Given the description of an element on the screen output the (x, y) to click on. 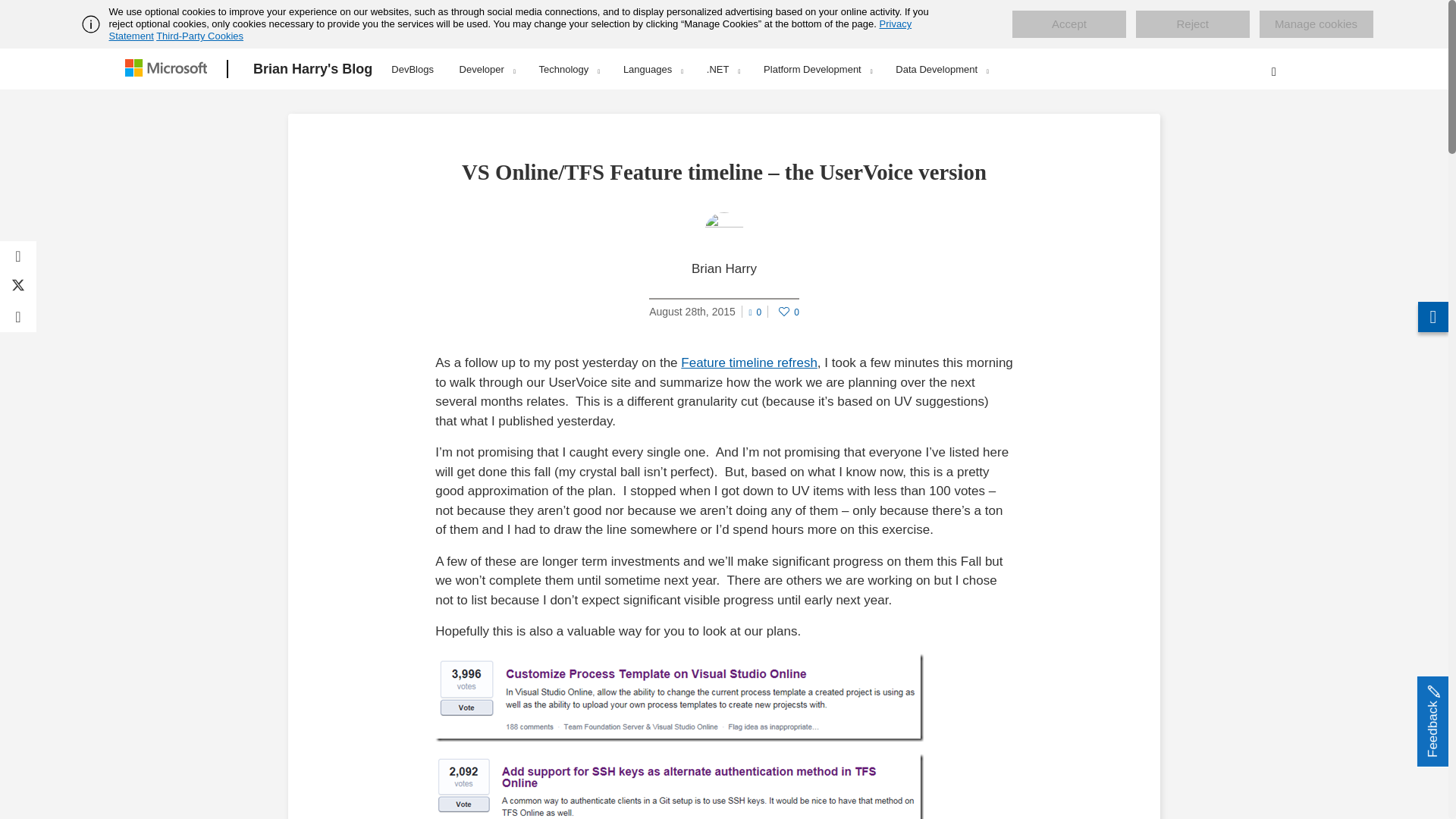
Technology (568, 69)
Share on Twitter (18, 286)
Languages (652, 69)
Share on LinkedIn (18, 317)
Manage cookies (1316, 23)
Brian Harry's Blog (313, 69)
Third-Party Cookies (199, 35)
Developer (486, 69)
Reject (1192, 23)
Privacy Statement (510, 29)
DevBlogs (412, 67)
Accept (1068, 23)
Share on Facebook (18, 255)
